Given the description of an element on the screen output the (x, y) to click on. 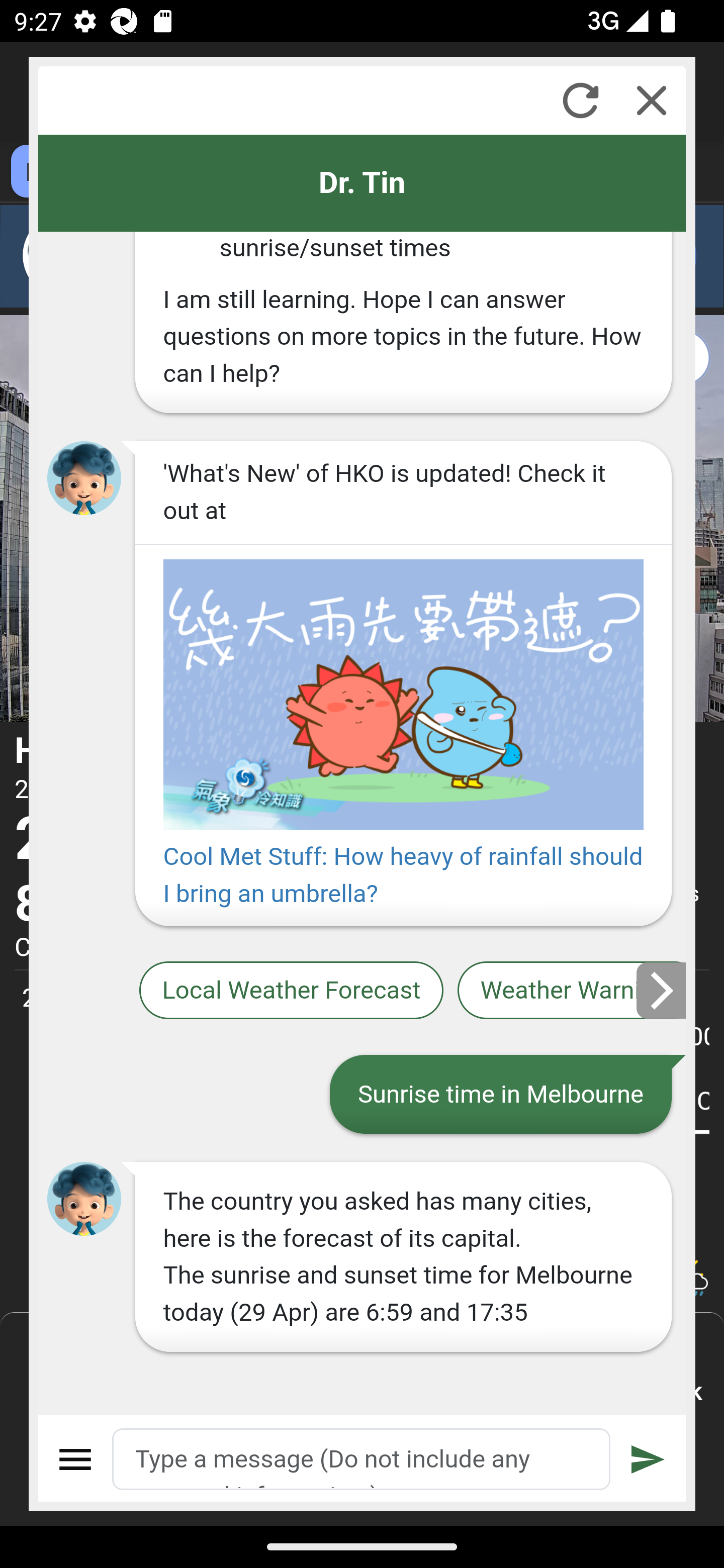
Refresh (580, 100)
Close (651, 100)
Local Weather Forecast (291, 990)
Weather Warnings (571, 990)
Next slide (661, 990)
Menu (75, 1458)
Submit (648, 1458)
